Given the description of an element on the screen output the (x, y) to click on. 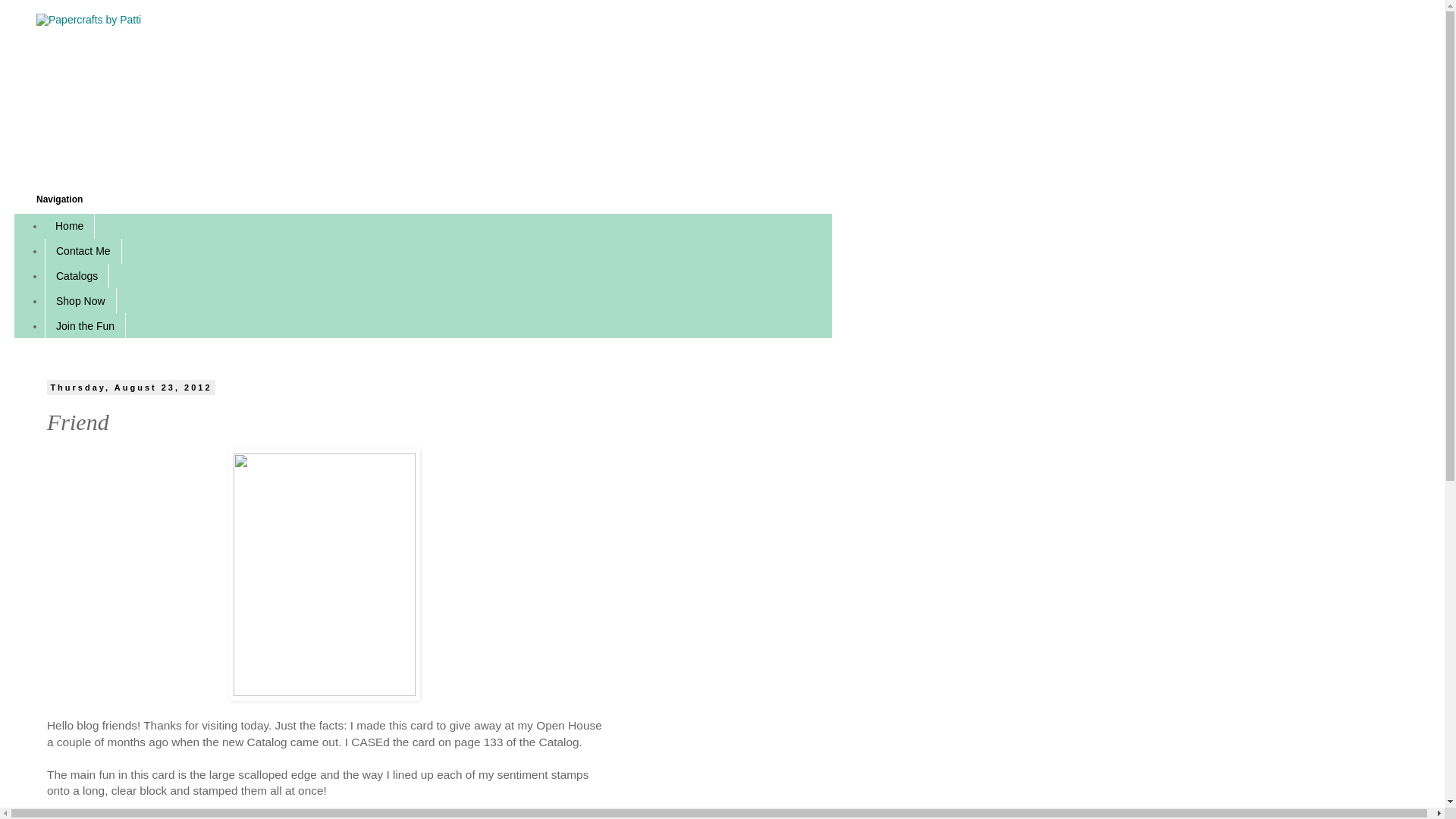
Shop Now (80, 300)
Join the Fun (85, 325)
Home (69, 226)
Contact Me (83, 251)
Catalogs (77, 276)
